Given the description of an element on the screen output the (x, y) to click on. 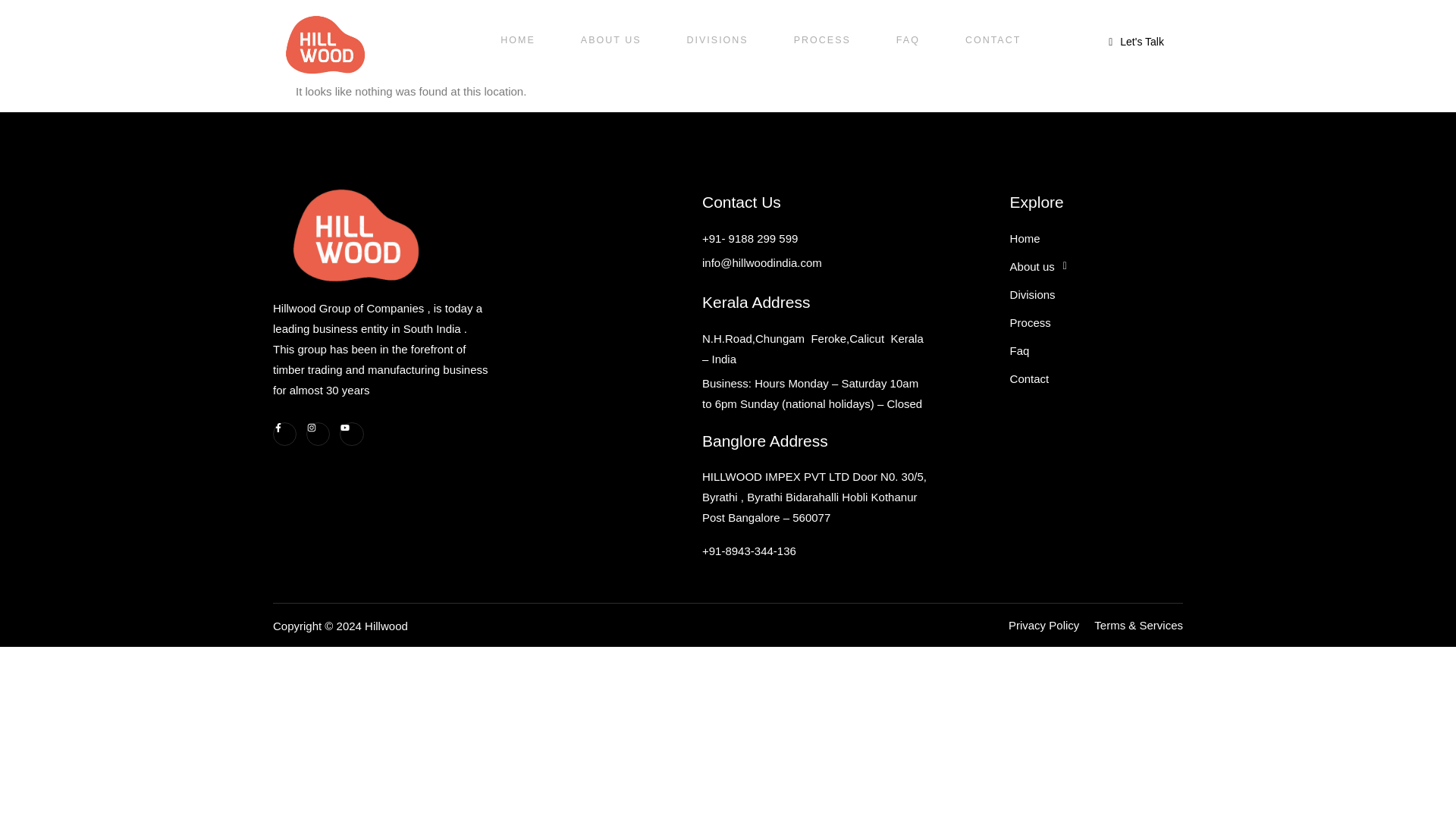
Contact (1096, 378)
About us (1096, 266)
DIVISIONS (717, 39)
Banglore Address (814, 439)
Privacy Policy (1096, 306)
Let's Talk (1043, 625)
Explore (1135, 41)
Privacy Policy (1096, 200)
